Given the description of an element on the screen output the (x, y) to click on. 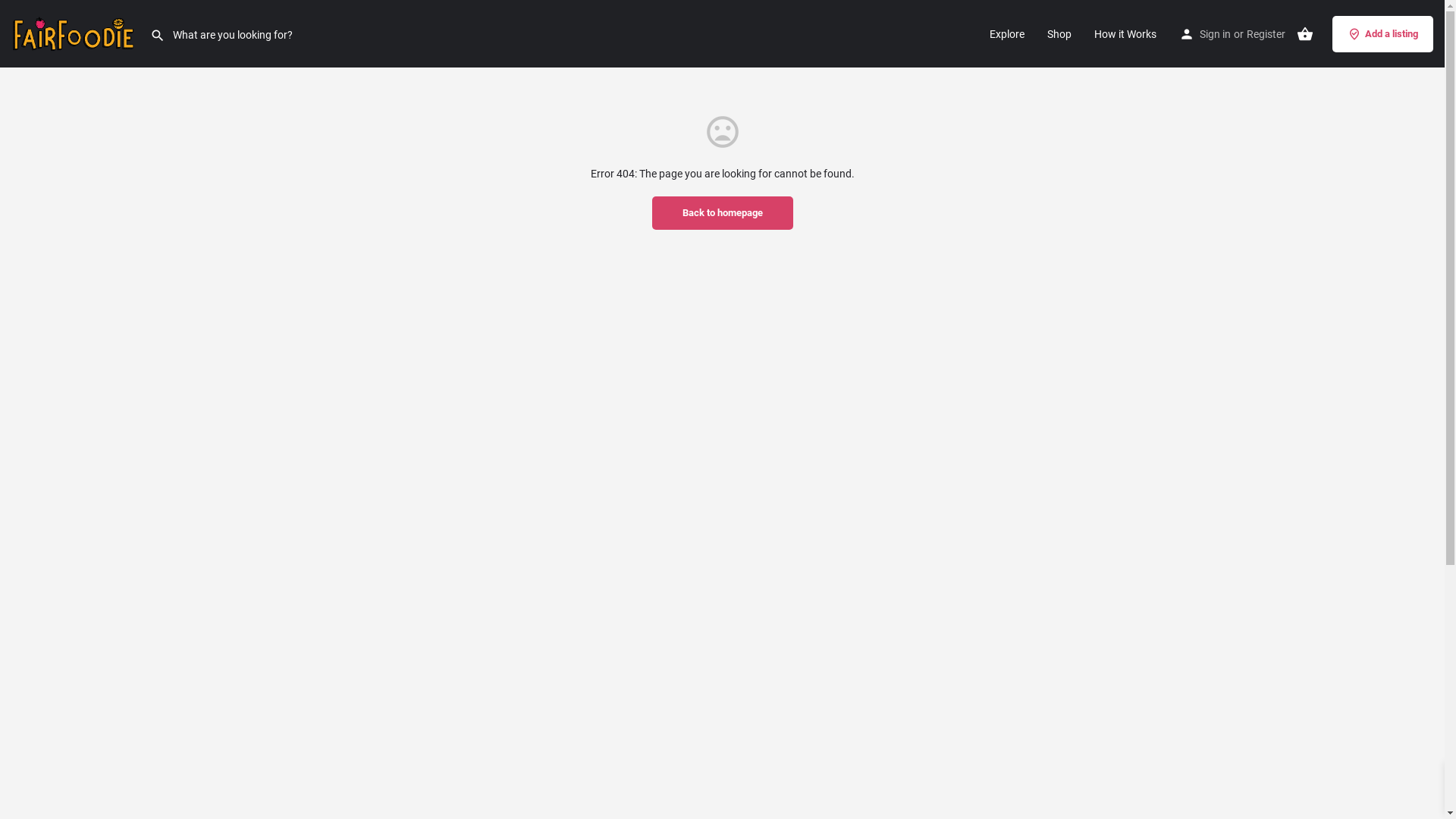
Shop Element type: text (1059, 32)
Add a listing Element type: text (1382, 33)
Explore Element type: text (1006, 32)
How it Works Element type: text (1125, 32)
Sign in Element type: text (1214, 33)
View your shopping cart Element type: hover (1304, 33)
Register Element type: text (1265, 33)
Back to homepage Element type: text (722, 212)
